Given the description of an element on the screen output the (x, y) to click on. 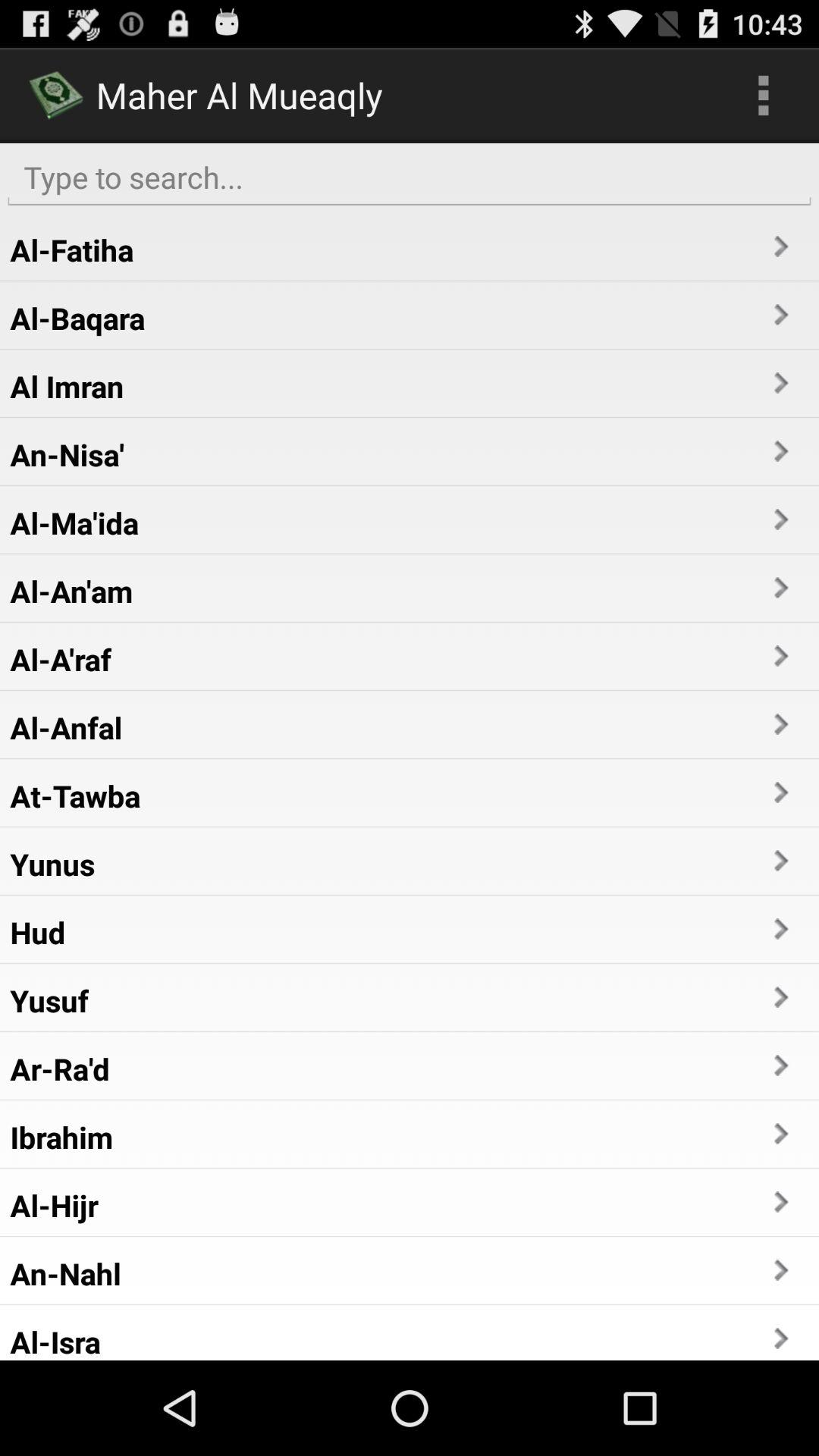
open app below yusuf item (59, 1068)
